Given the description of an element on the screen output the (x, y) to click on. 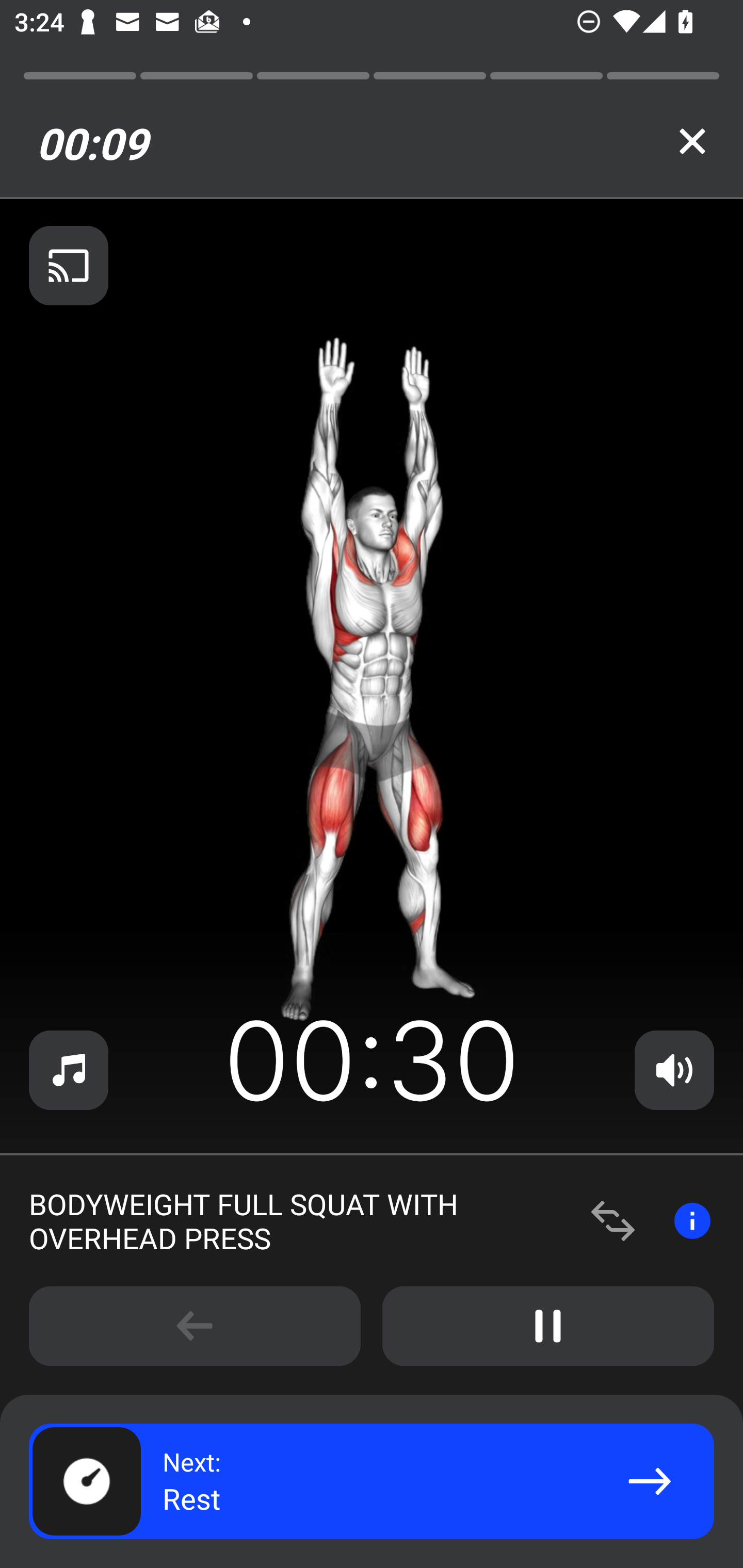
Next: Rest (371, 1481)
